Given the description of an element on the screen output the (x, y) to click on. 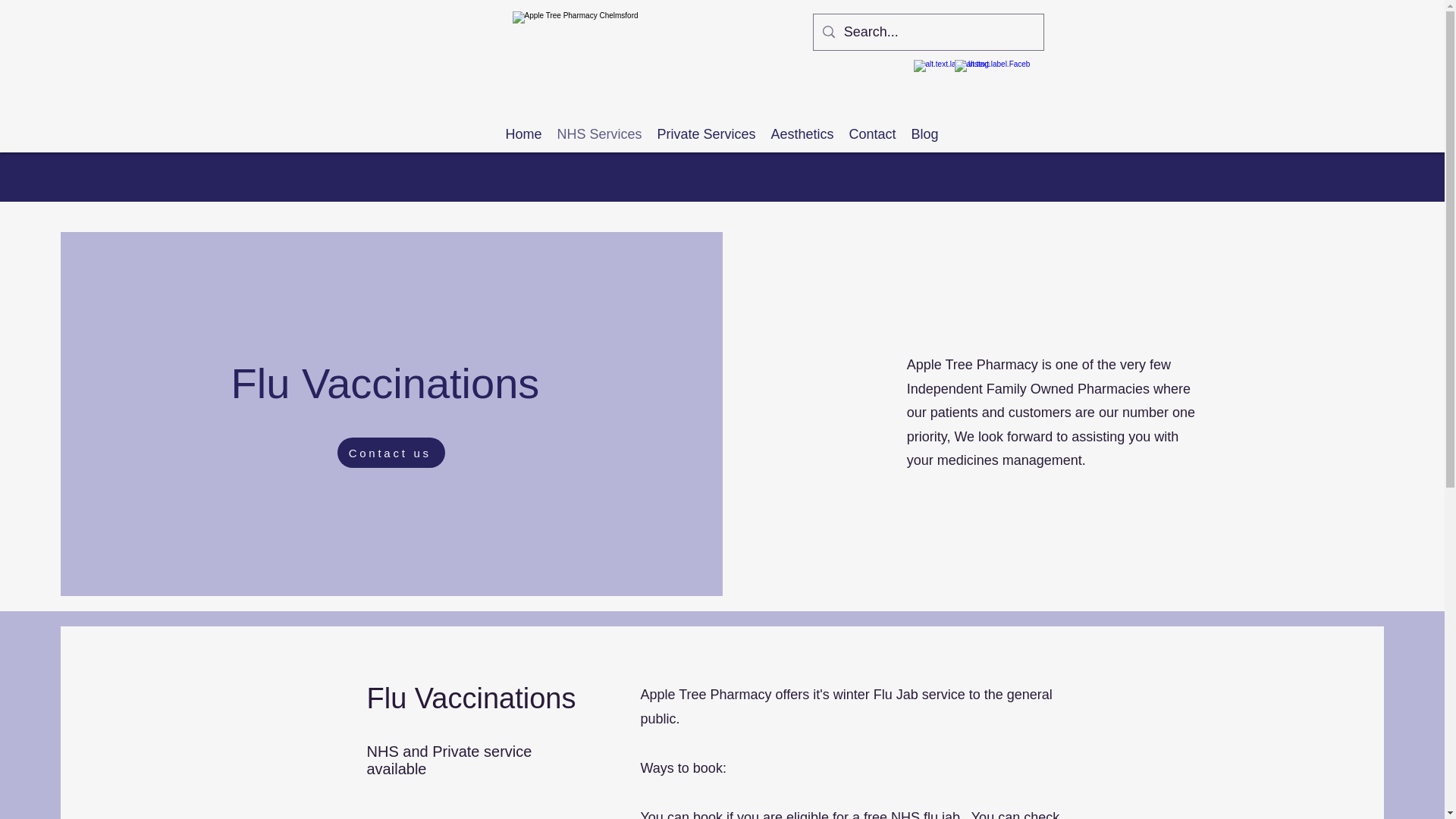
Private Services (705, 134)
Apple Tree Pharmacy Logo  (595, 46)
Contact us (391, 452)
Aesthetics (801, 134)
Home (522, 134)
Contact (872, 134)
Blog (925, 134)
NHS Services (598, 134)
